Given the description of an element on the screen output the (x, y) to click on. 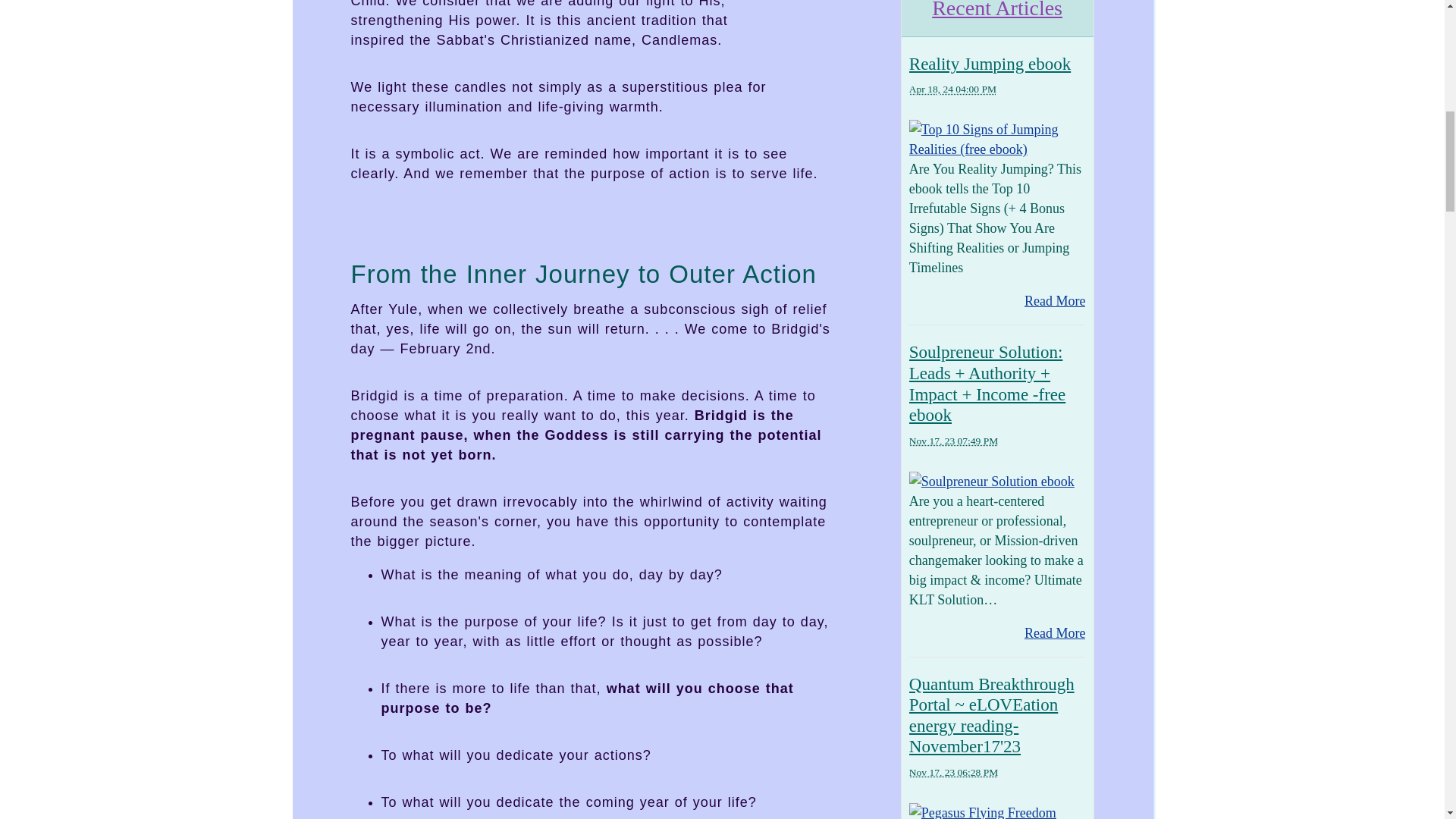
2023-11-17T19:49:39-0500 (952, 440)
2023-11-17T18:28:27-0500 (952, 772)
2024-04-18T16:00:39-0400 (951, 89)
